Given the description of an element on the screen output the (x, y) to click on. 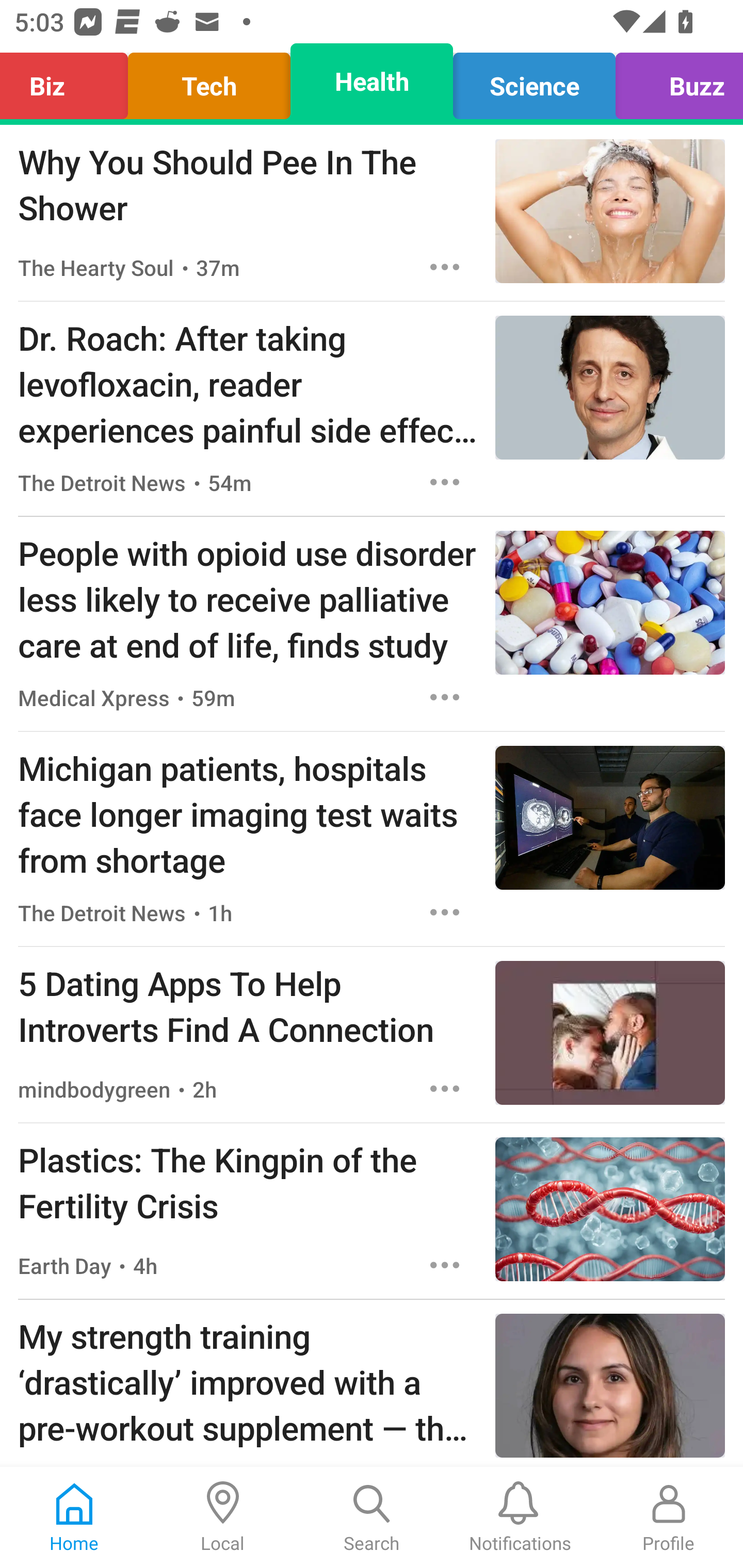
Biz (69, 81)
Tech (209, 81)
Health (371, 81)
Science (534, 81)
Buzz (673, 81)
Options (444, 267)
Options (444, 481)
Options (444, 697)
Options (444, 912)
Options (444, 1088)
Options (444, 1265)
Local (222, 1517)
Search (371, 1517)
Notifications (519, 1517)
Profile (668, 1517)
